Given the description of an element on the screen output the (x, y) to click on. 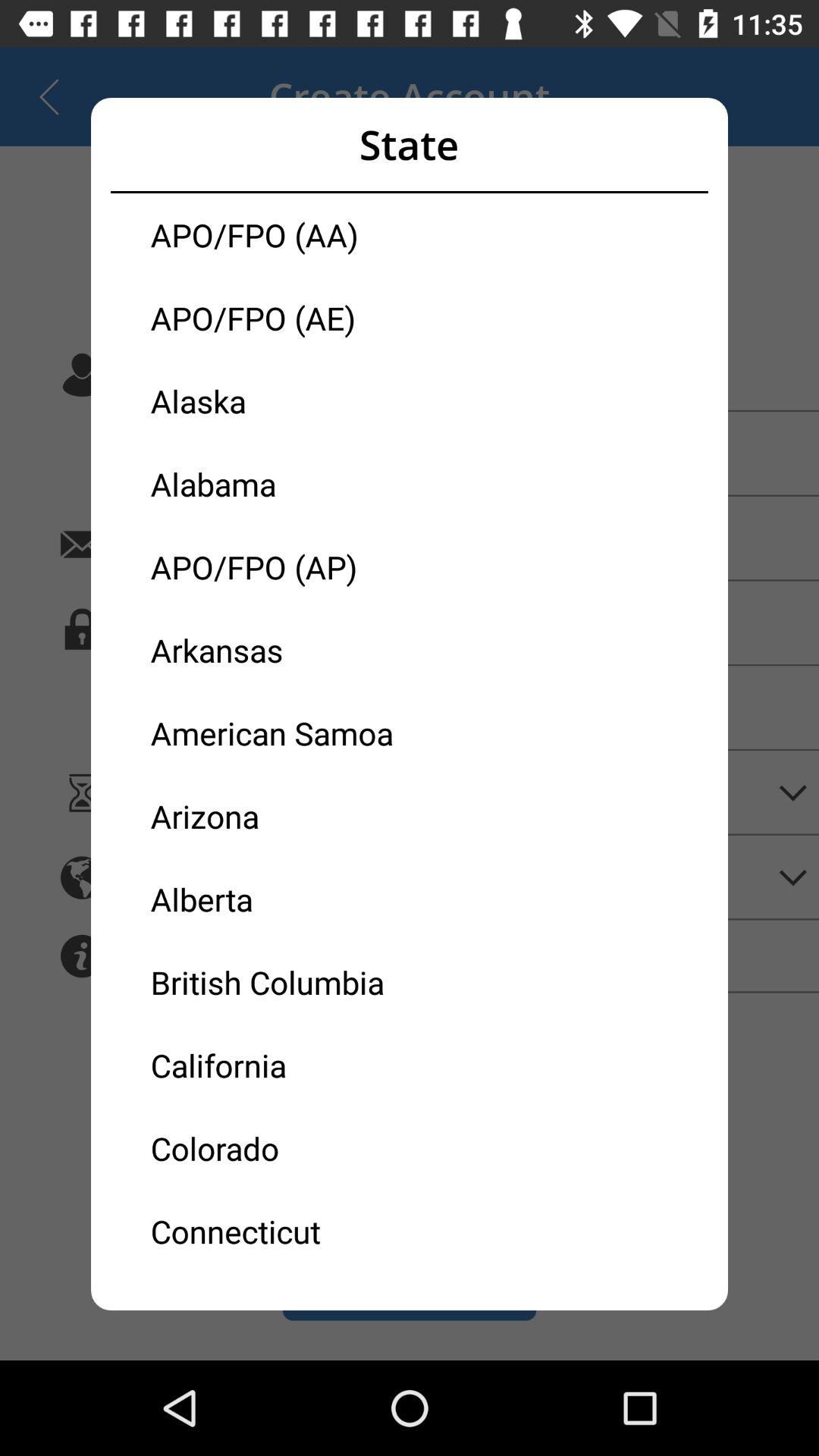
turn off the icon below arizona item (279, 898)
